Given the description of an element on the screen output the (x, y) to click on. 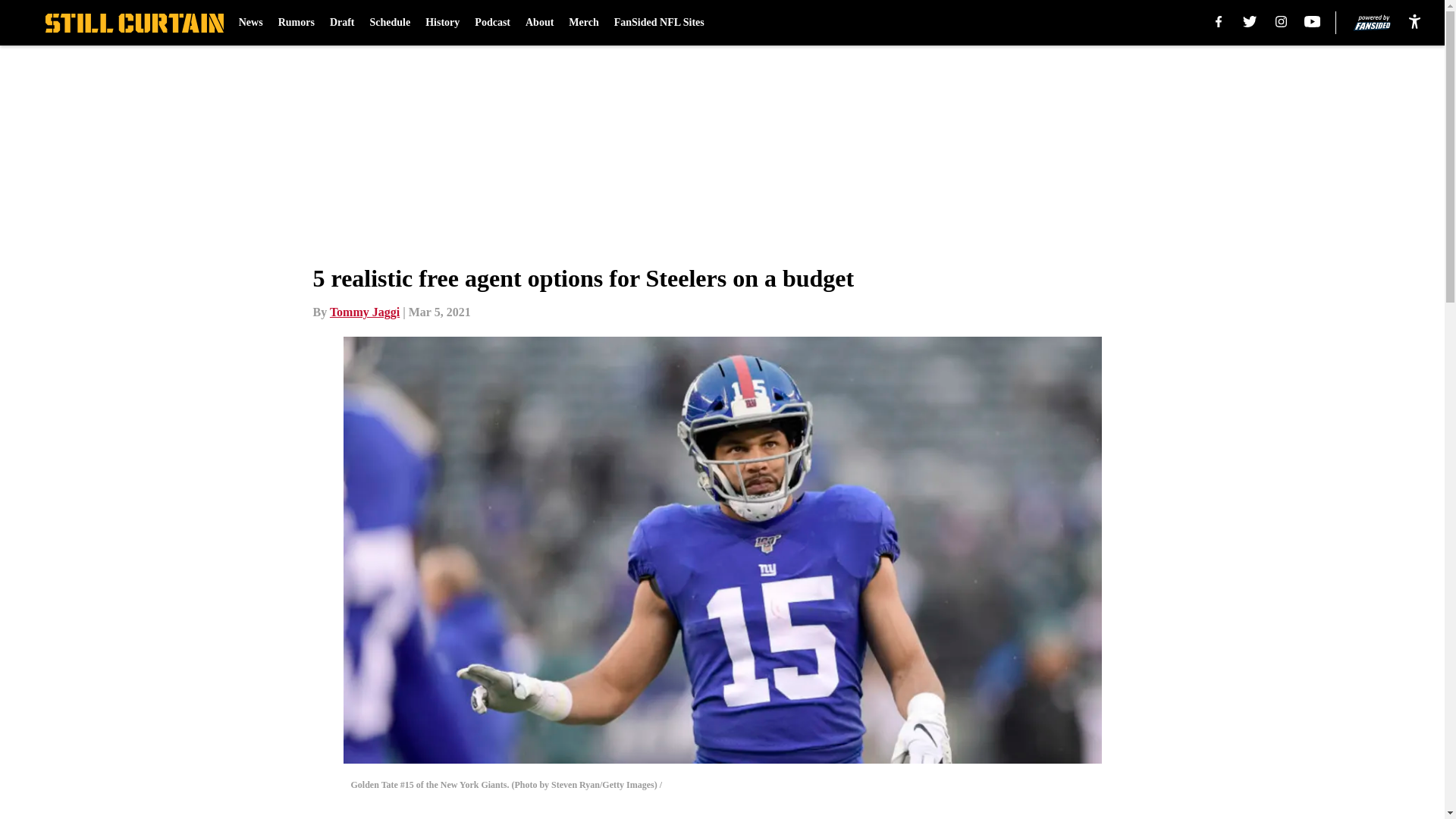
News (250, 22)
About (539, 22)
Tommy Jaggi (364, 311)
Draft (342, 22)
Schedule (389, 22)
FanSided NFL Sites (659, 22)
Rumors (296, 22)
Podcast (492, 22)
History (442, 22)
Merch (583, 22)
